Given the description of an element on the screen output the (x, y) to click on. 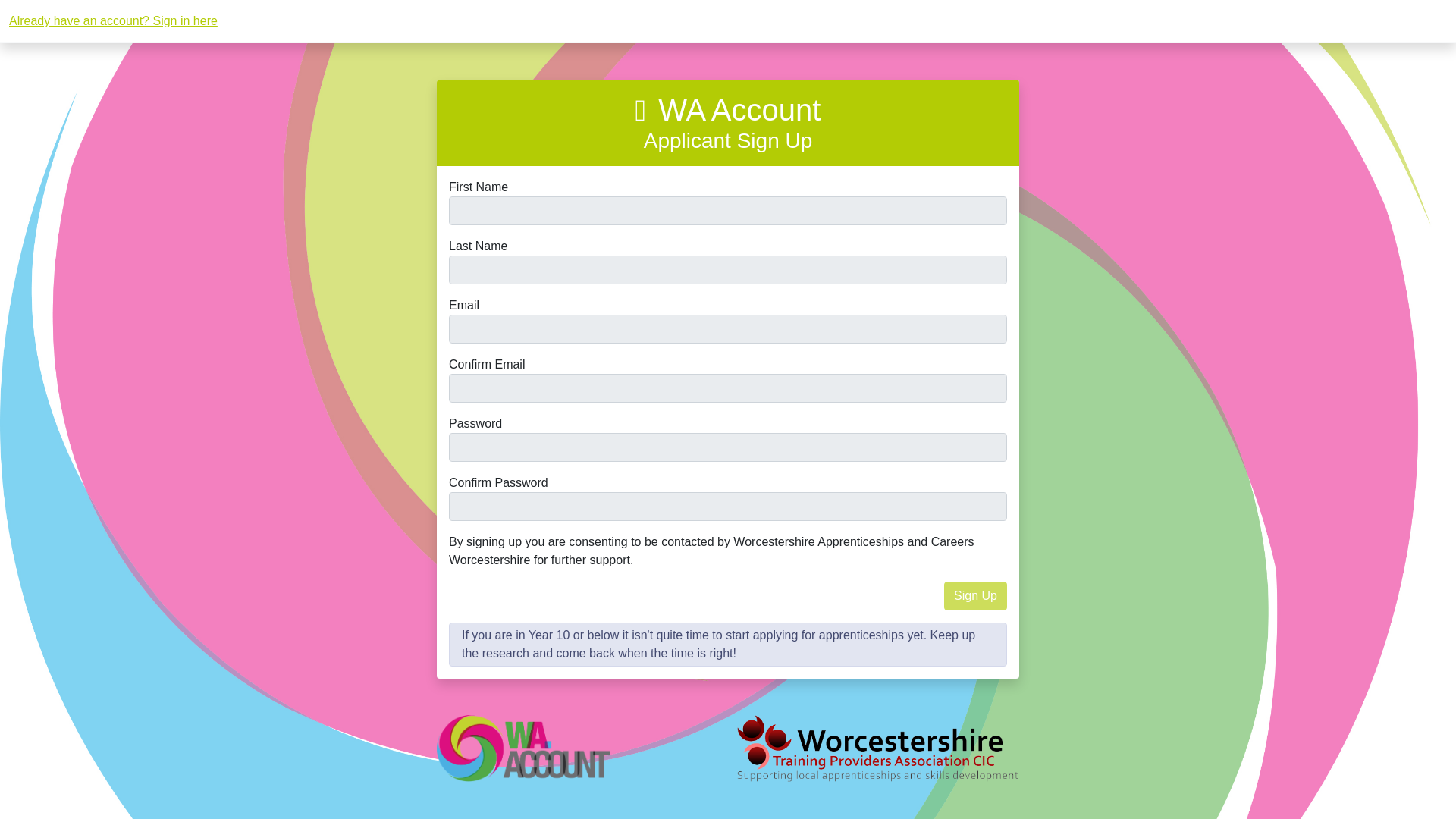
Sign Up (975, 595)
Already have an account? Sign in here (112, 21)
Sign Up (975, 595)
